Given the description of an element on the screen output the (x, y) to click on. 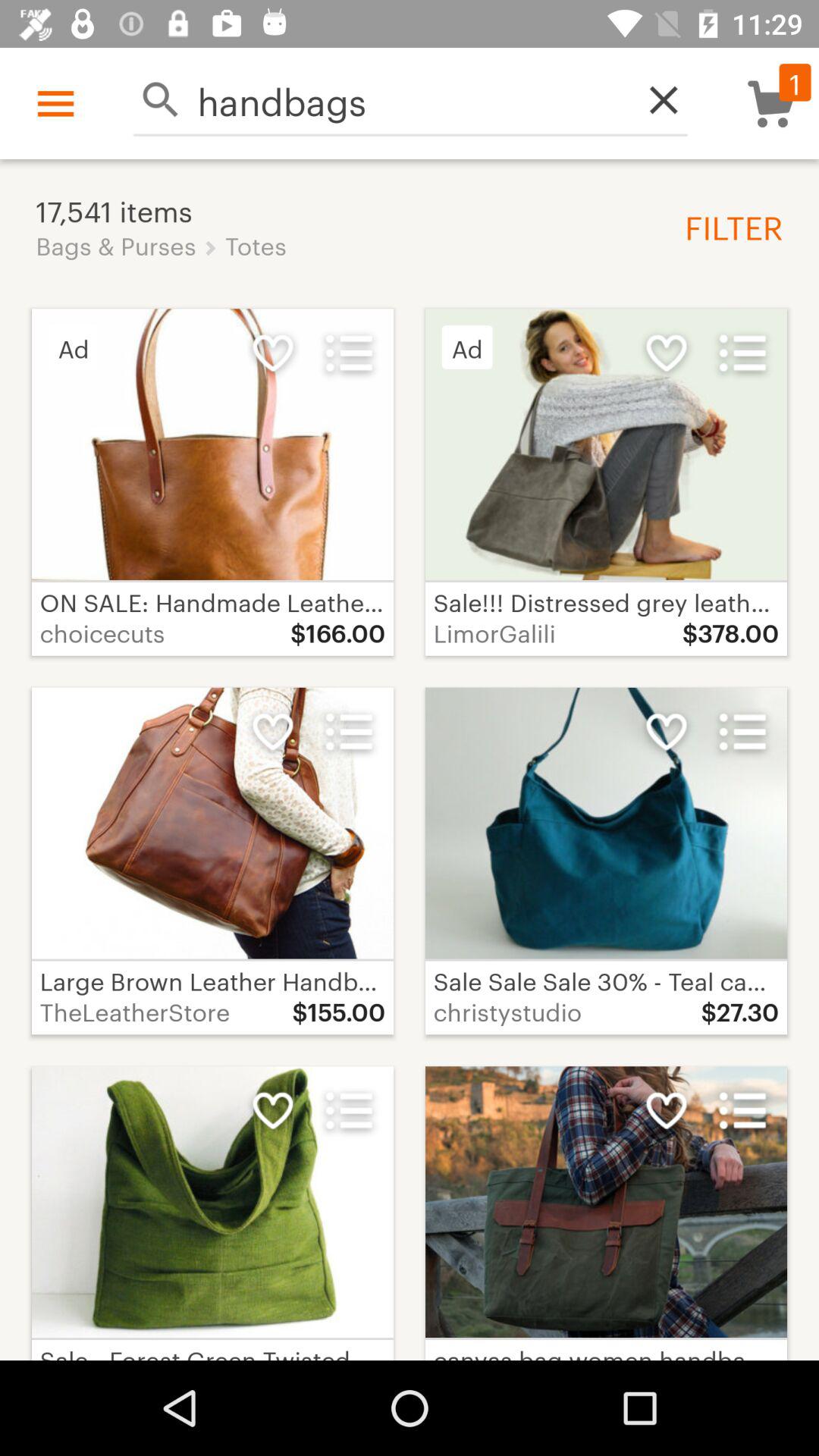
click filter icon (727, 225)
